Given the description of an element on the screen output the (x, y) to click on. 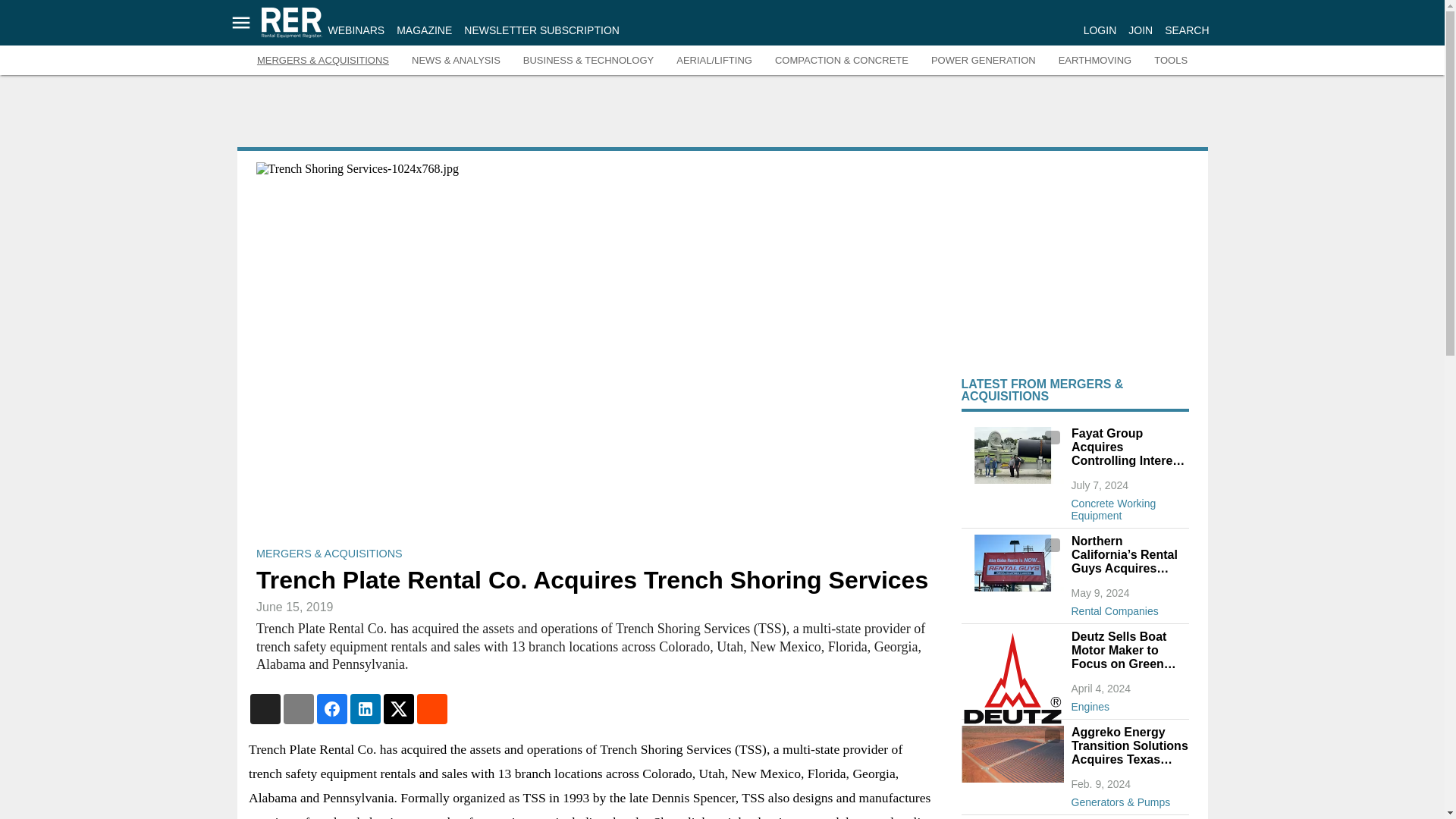
EARTHMOVING (1095, 60)
TOOLS (1171, 60)
WEBINARS (355, 30)
MAGAZINE (423, 30)
POWER GENERATION (983, 60)
LOGIN (1099, 30)
SEARCH (1186, 30)
NEWSLETTER SUBSCRIPTION (542, 30)
JOIN (1140, 30)
